Given the description of an element on the screen output the (x, y) to click on. 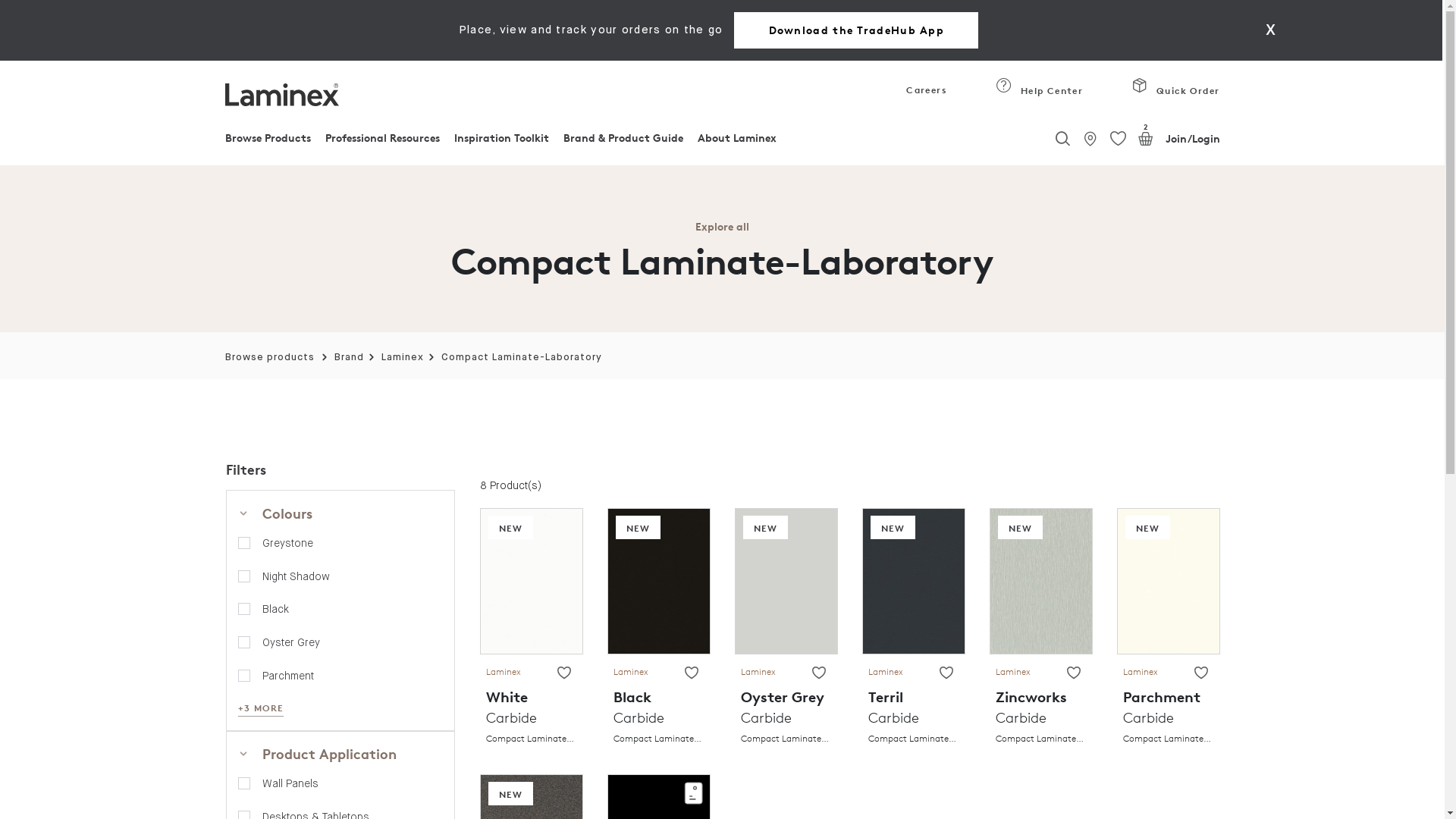
+3 MORE Element type: text (261, 708)
Join/Login Element type: text (1191, 138)
NEW Element type: text (893, 527)
Sample Basket Element type: hover (1145, 138)
Search for products or content Element type: hover (1062, 135)
Quick Order Element type: text (1175, 93)
View Favourites Element type: hover (1200, 672)
NEW Element type: text (1020, 527)
Compact Laminate-Laboratory Element type: text (521, 357)
Quick Order Element type: hover (1139, 85)
Brand Element type: text (349, 357)
Help Center Element type: hover (1004, 85)
View Favourites Element type: hover (1118, 138)
Laminex Element type: text (402, 357)
Download the TradeHub App Element type: text (856, 30)
Inspiration Toolkit Element type: text (501, 141)
About Laminex Element type: text (736, 141)
View Favourites Element type: hover (1072, 672)
NEW Element type: text (510, 793)
View Favourites Element type: hover (563, 672)
Zincworks Element type: hover (1040, 579)
Help Center Element type: text (1038, 93)
View Favourites Element type: hover (690, 672)
Black Element type: hover (657, 579)
NEW Element type: text (1147, 527)
Laminex logo Element type: hover (281, 94)
NEW Element type: text (765, 527)
See & Buy Element type: hover (1089, 138)
NEW Element type: text (510, 527)
View Favourites Element type: hover (818, 672)
Careers Element type: text (923, 93)
Order a Sample Element type: hover (693, 792)
Brand & Product Guide Element type: text (623, 141)
Browse Products Element type: text (267, 141)
NEW Element type: text (638, 527)
White Element type: hover (530, 579)
Oyster Grey Element type: hover (785, 579)
Parchment Element type: hover (1167, 579)
Browse products Element type: text (268, 357)
View Favourites Element type: hover (945, 672)
Terril Element type: hover (912, 579)
Professional Resources Element type: text (382, 141)
